Given the description of an element on the screen output the (x, y) to click on. 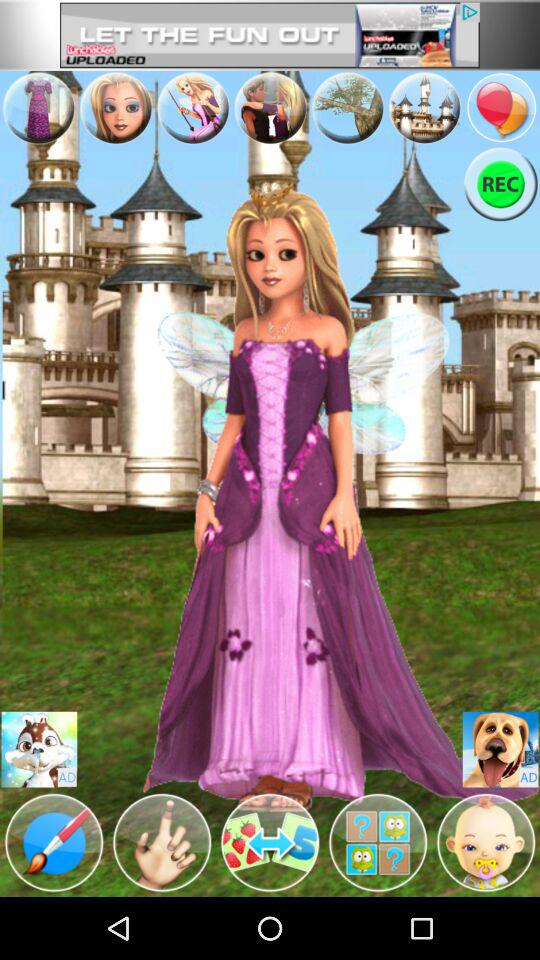
opens dress menu (38, 107)
